Given the description of an element on the screen output the (x, y) to click on. 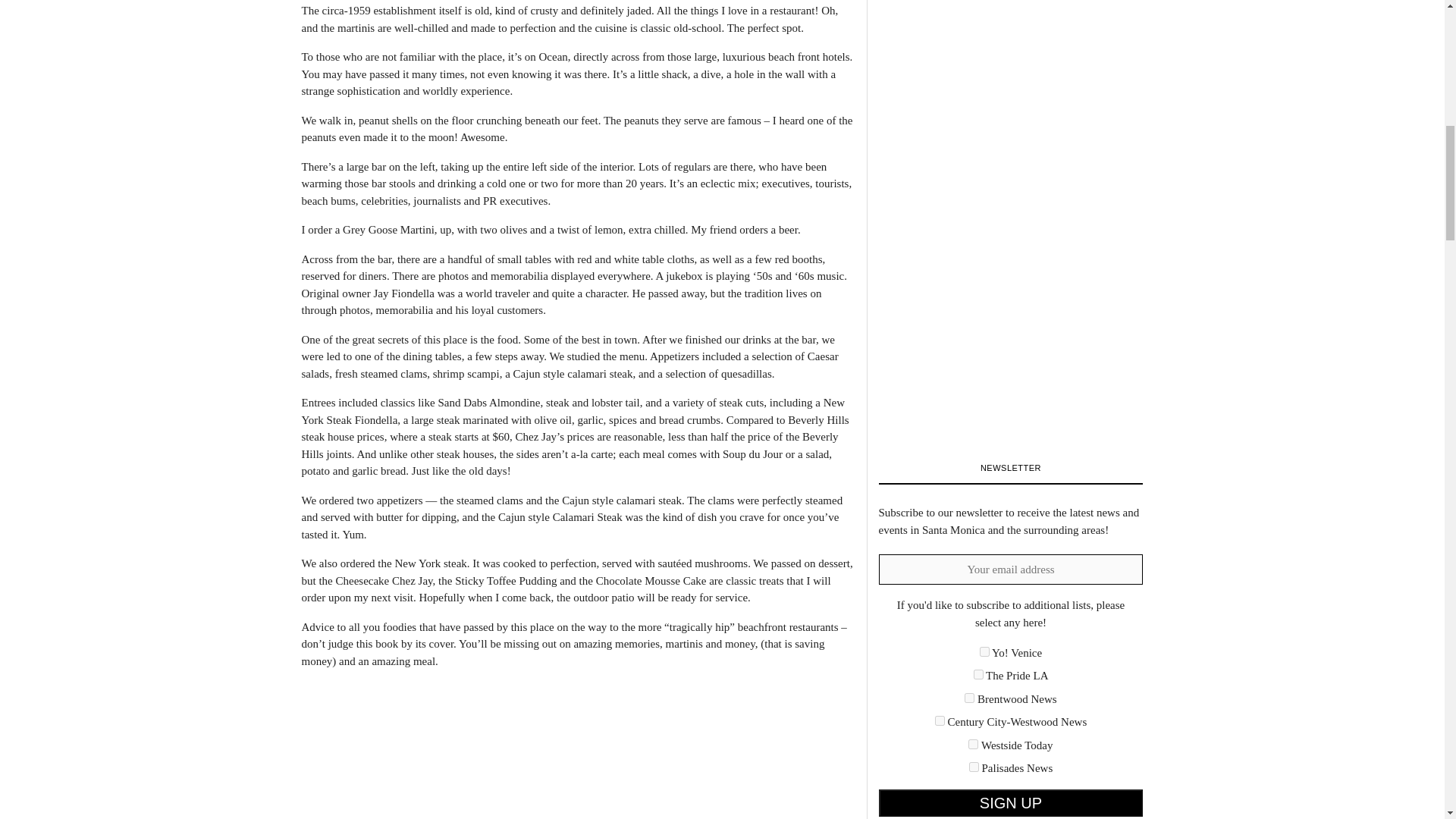
2c616d28b5 (984, 651)
ec7d882848 (973, 767)
Sign up (1009, 802)
382281a661 (968, 697)
a3d1b6d535 (973, 744)
33f79e7e4d (979, 674)
5fac618226 (939, 720)
